Given the description of an element on the screen output the (x, y) to click on. 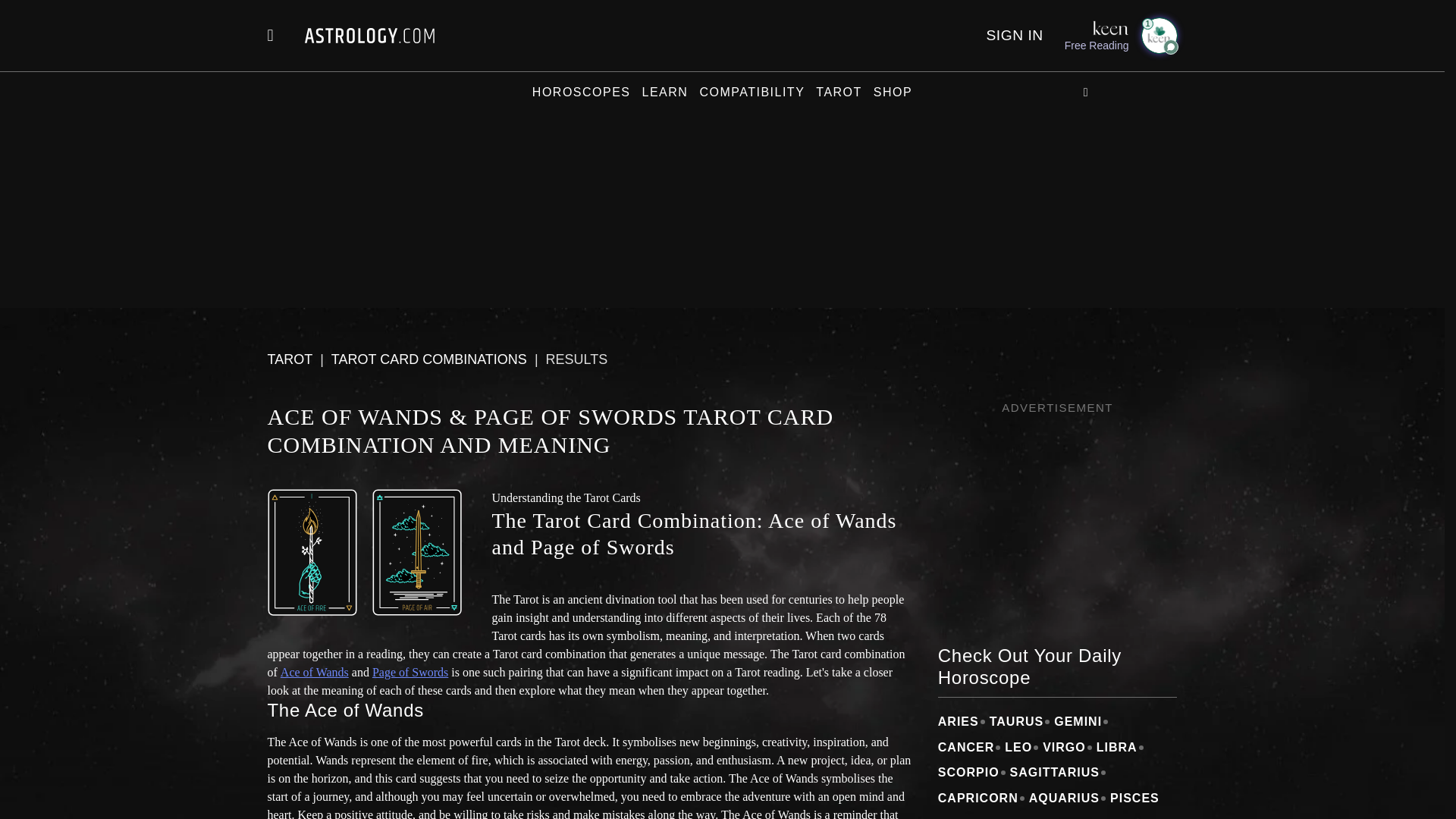
1 (1158, 35)
SIGN IN (1013, 35)
